Given the description of an element on the screen output the (x, y) to click on. 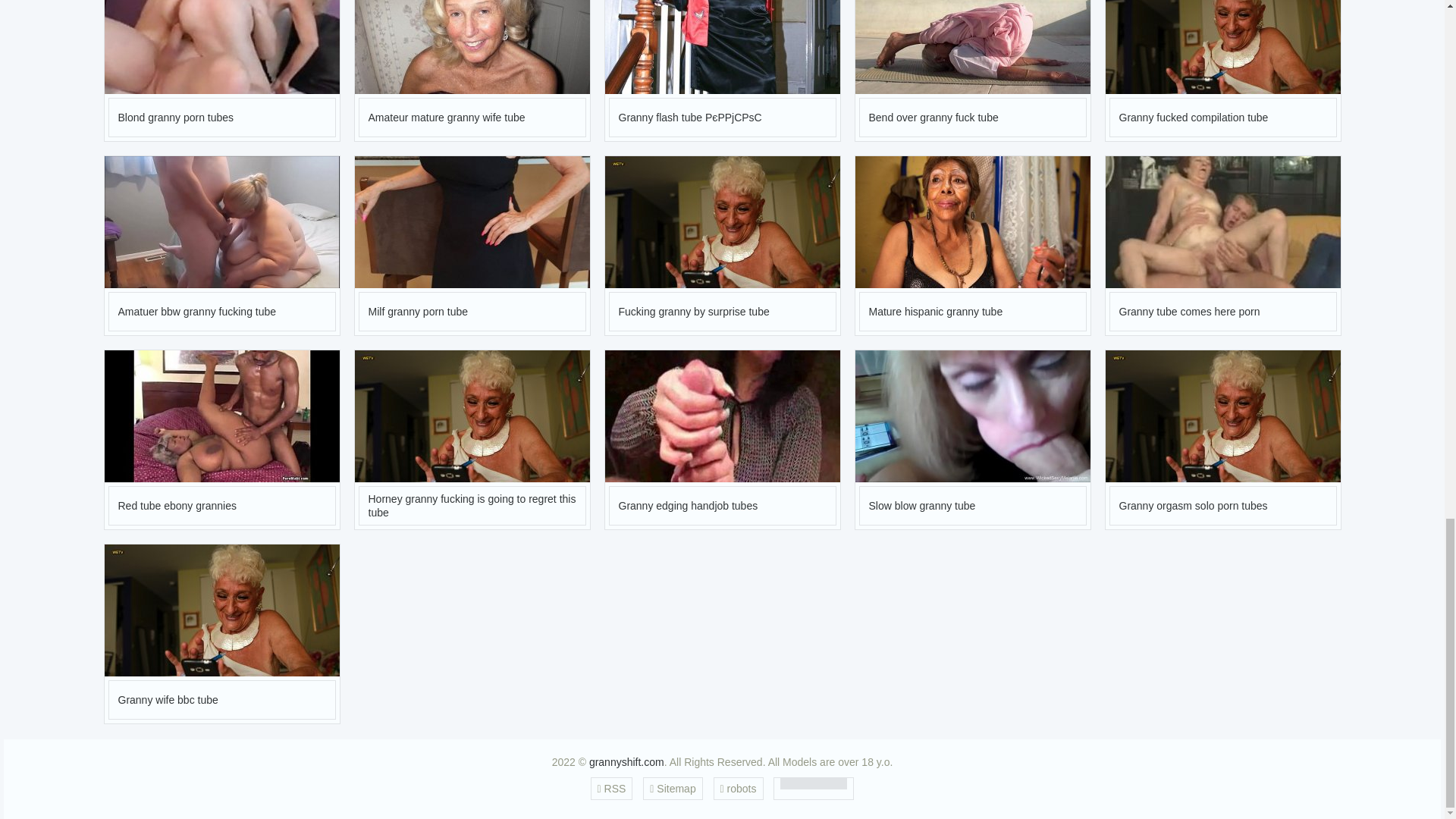
Granny edging handjob tubes (722, 439)
Mature hispanic granny tube (973, 245)
Blond granny porn tubes (221, 70)
Granny fucked compilation tube (1222, 70)
Red tube ebony grannies (221, 439)
Amatuer bbw granny fucking tube (221, 245)
Granny orgasm solo porn tubes (1222, 439)
Fucking granny by surprise tube (722, 245)
Bend over granny fuck tube (973, 70)
blond granny porn tubes (221, 47)
Granny tube comes here porn (1222, 245)
amateur mature granny wife tube (472, 47)
Amateur mature granny wife tube (472, 70)
granny fucked compilation tube (1222, 47)
Milf granny porn tube (472, 245)
